Given the description of an element on the screen output the (x, y) to click on. 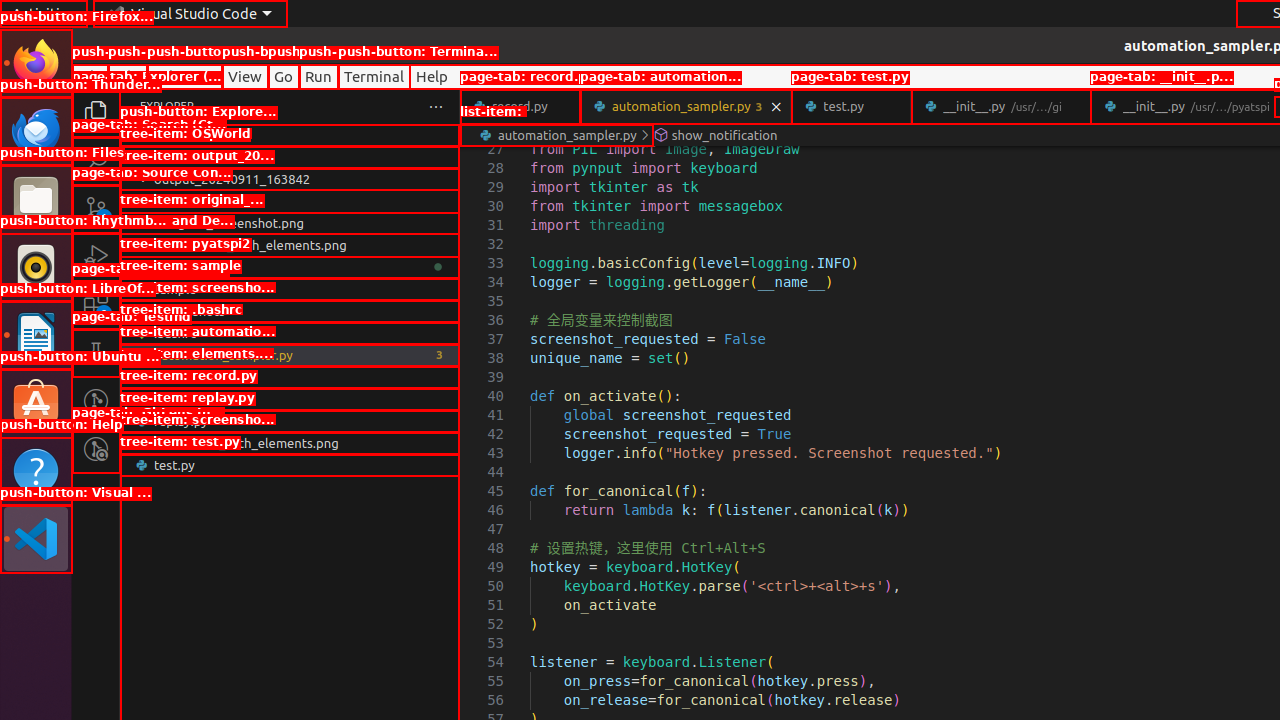
output_20240911_163842 Element type: tree-item (289, 179)
Selection Element type: push-button (184, 76)
